Given the description of an element on the screen output the (x, y) to click on. 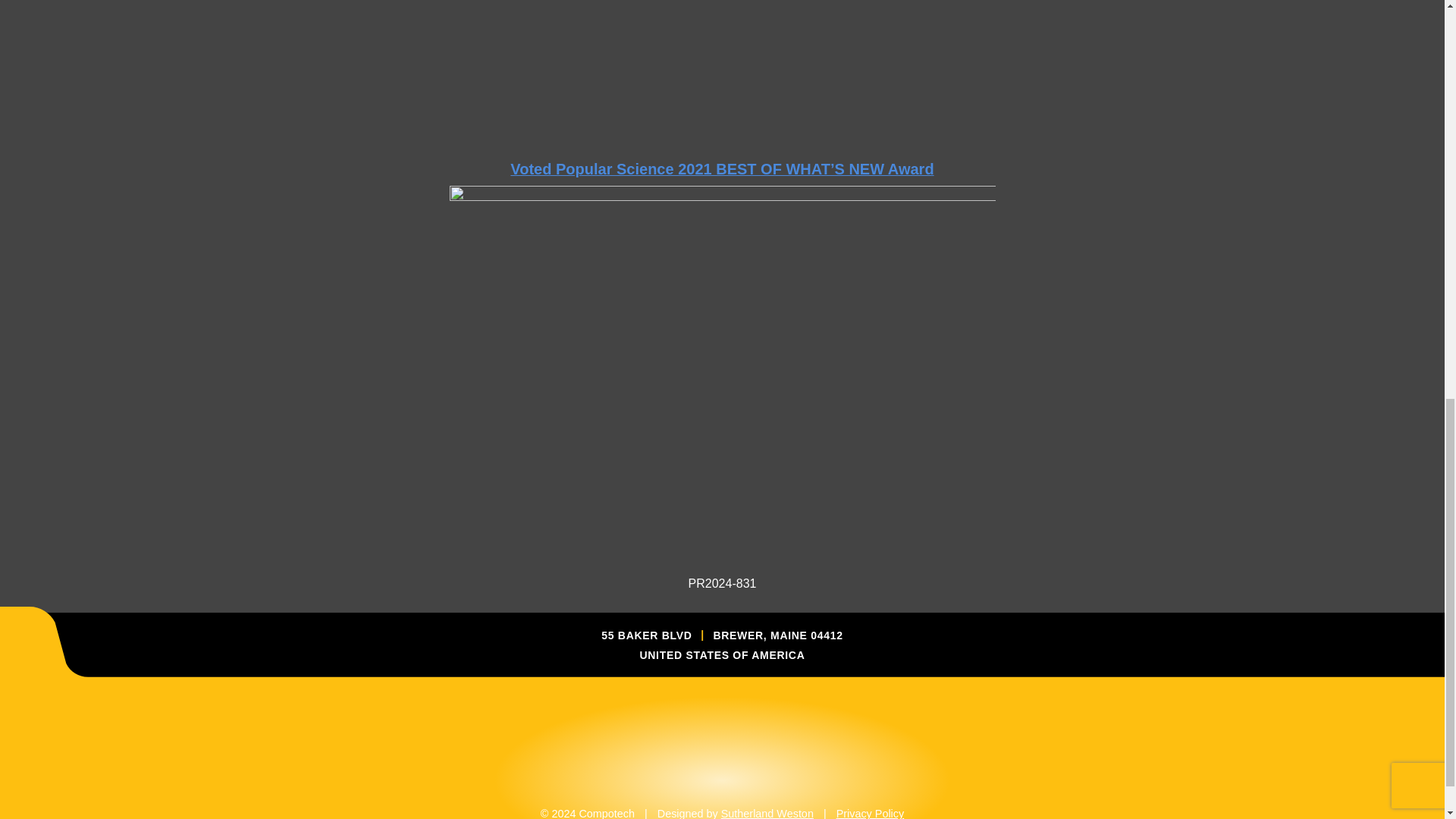
Sutherland Weston (766, 813)
Privacy Policy (869, 813)
FRAG-CT (721, 55)
